Given the description of an element on the screen output the (x, y) to click on. 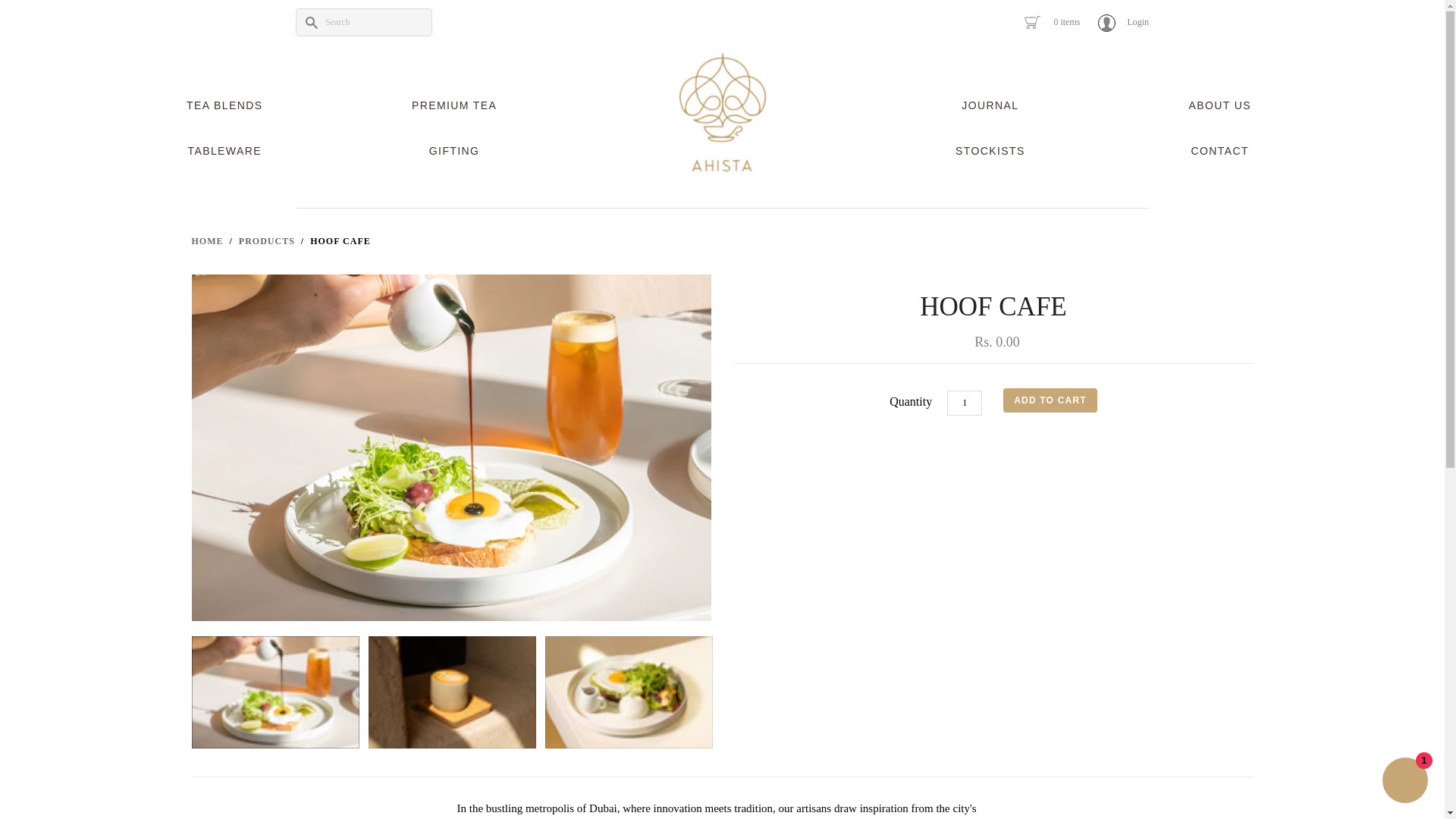
JOURNAL (990, 105)
PRODUCTS (266, 240)
PREMIUM TEA (454, 105)
TABLEWARE (224, 151)
CONTACT (1220, 151)
Login (1122, 22)
Add to cart (1050, 400)
Add to cart (1050, 400)
1 (964, 402)
STOCKISTS (990, 151)
TEA BLENDS (224, 105)
GIFTING (454, 151)
ABOUT US (1220, 105)
HOME (206, 240)
Shopify online store chat (1404, 781)
